Given the description of an element on the screen output the (x, y) to click on. 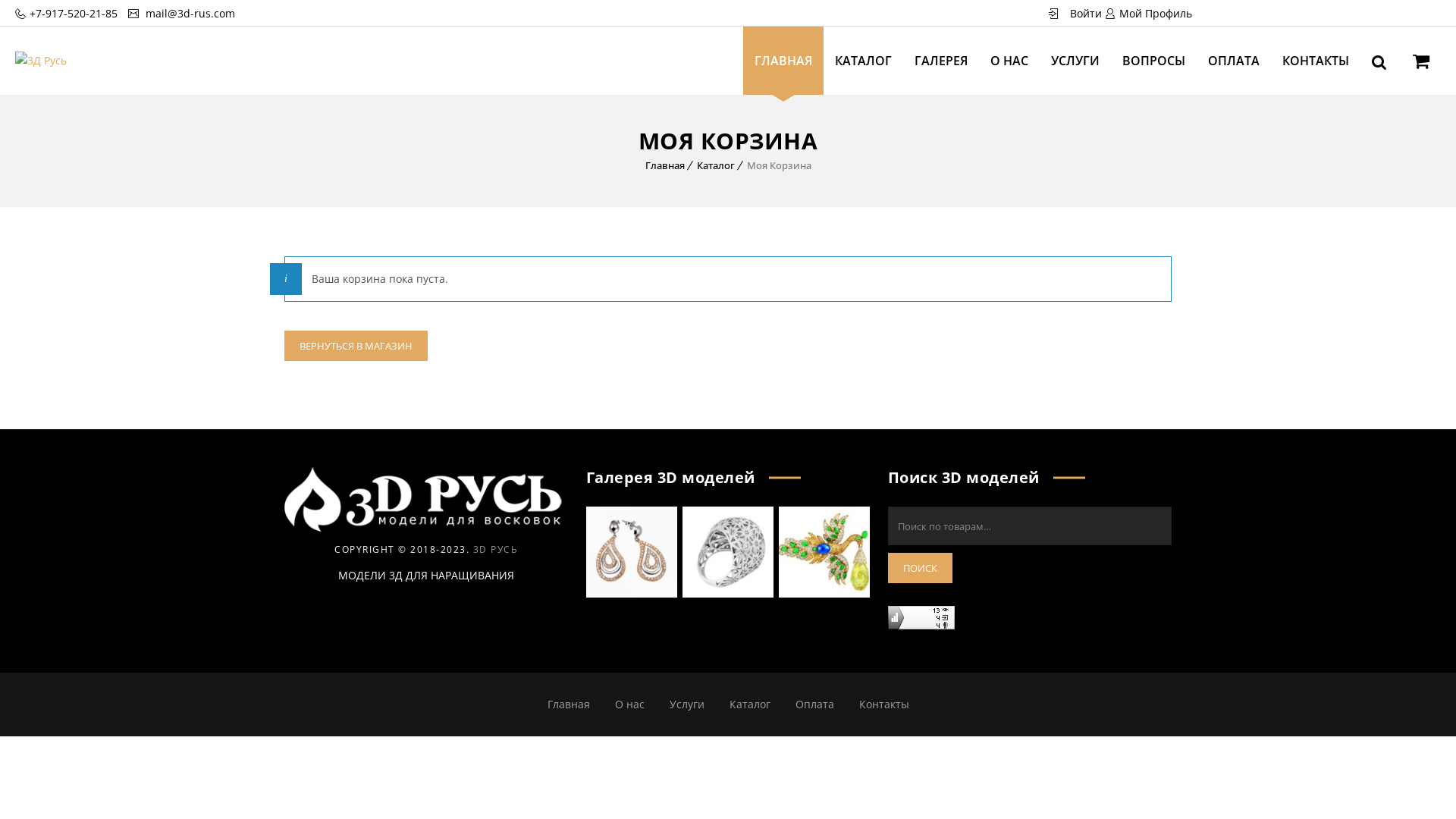
View Shopping Cart Element type: hover (1420, 63)
mail@3d-rus.com Element type: text (188, 13)
